Given the description of an element on the screen output the (x, y) to click on. 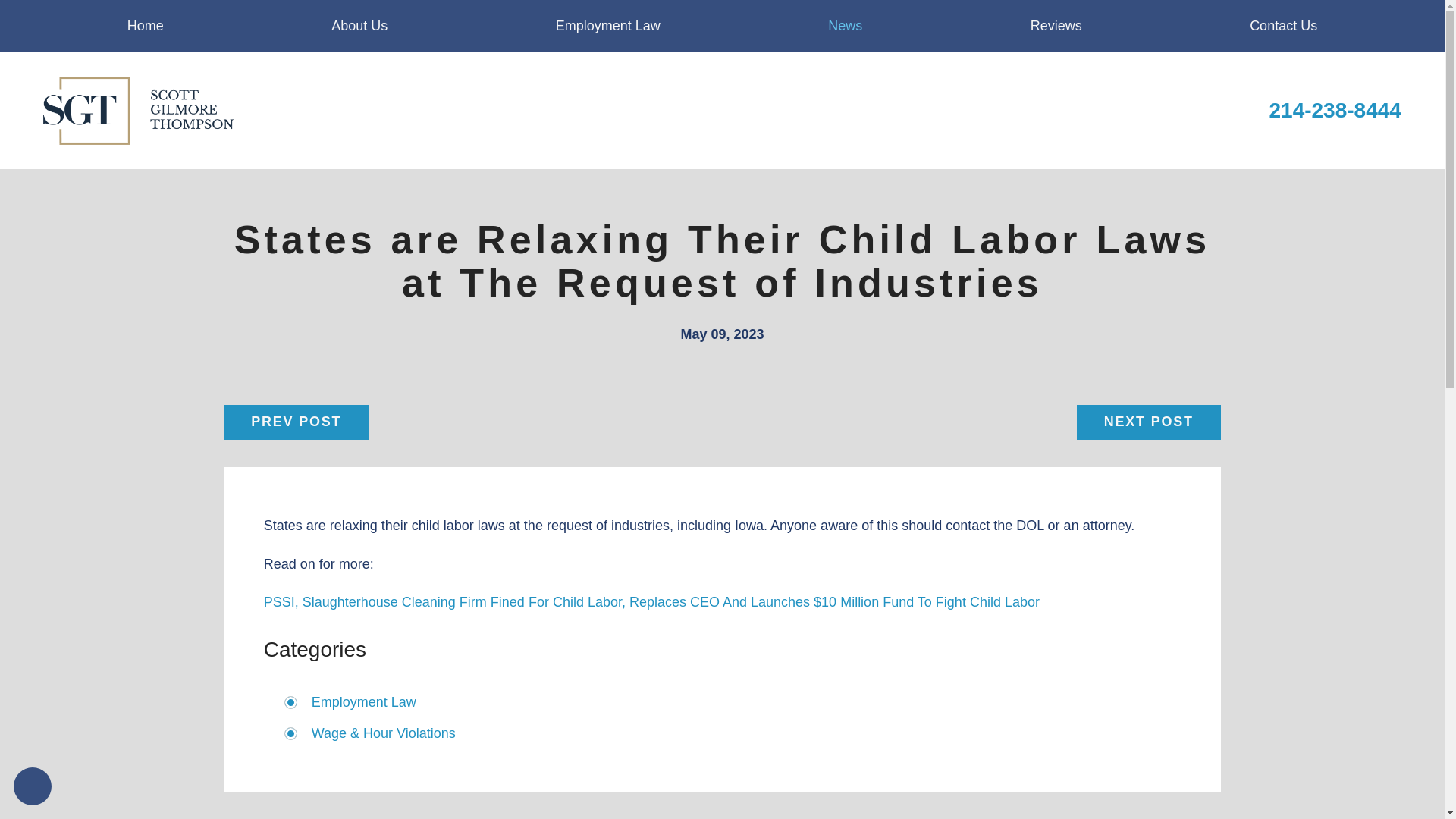
Home (145, 25)
Employment Law (607, 25)
Open the accessibility options menu (31, 786)
About Us (359, 25)
Reviews (1056, 25)
214-238-8444 (1334, 110)
News (845, 25)
Scott Gilmore Thompson (137, 110)
Contact Us (1283, 25)
Search Our Site (1218, 110)
